Given the description of an element on the screen output the (x, y) to click on. 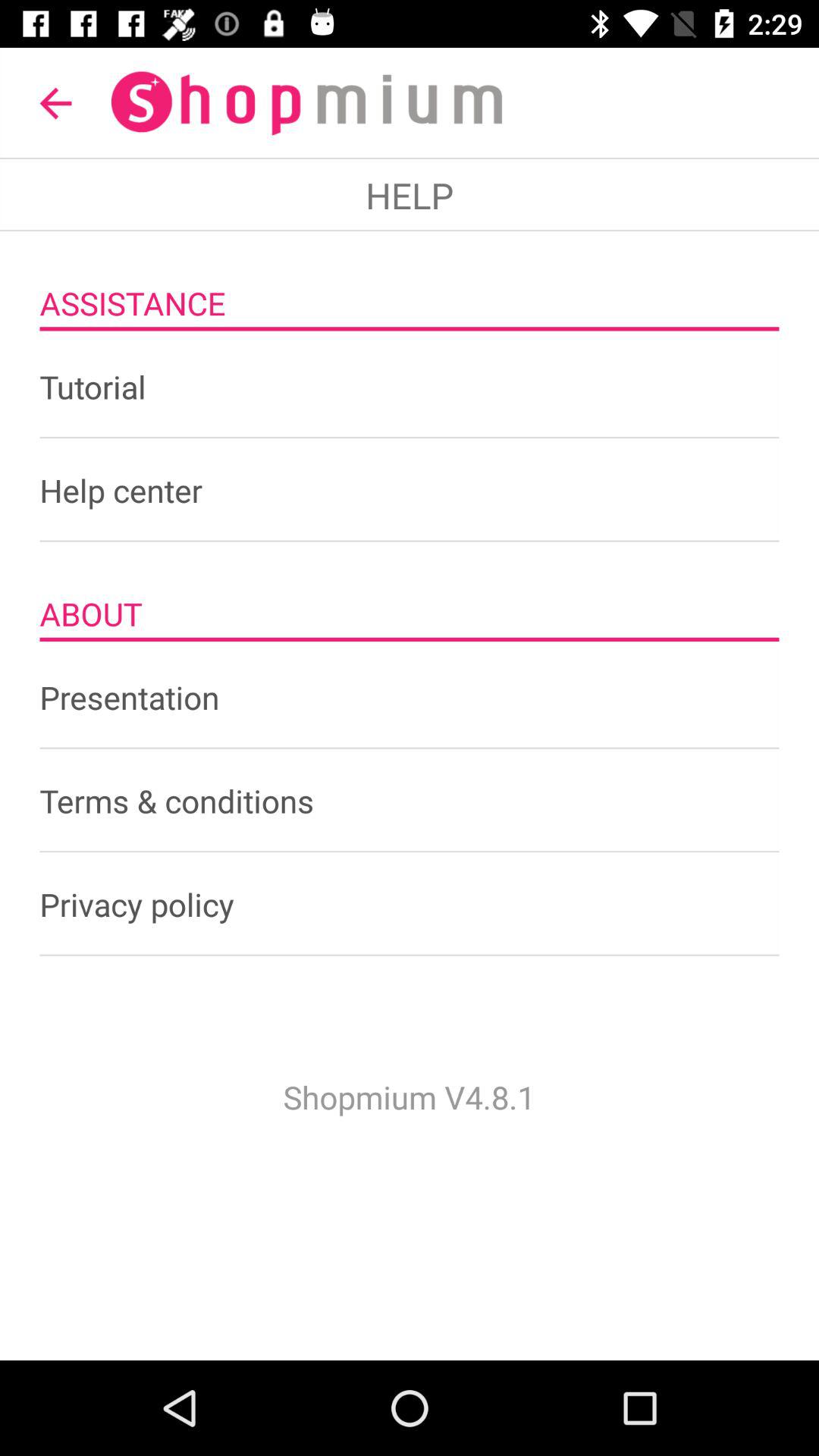
select icon above the privacy policy item (409, 800)
